Given the description of an element on the screen output the (x, y) to click on. 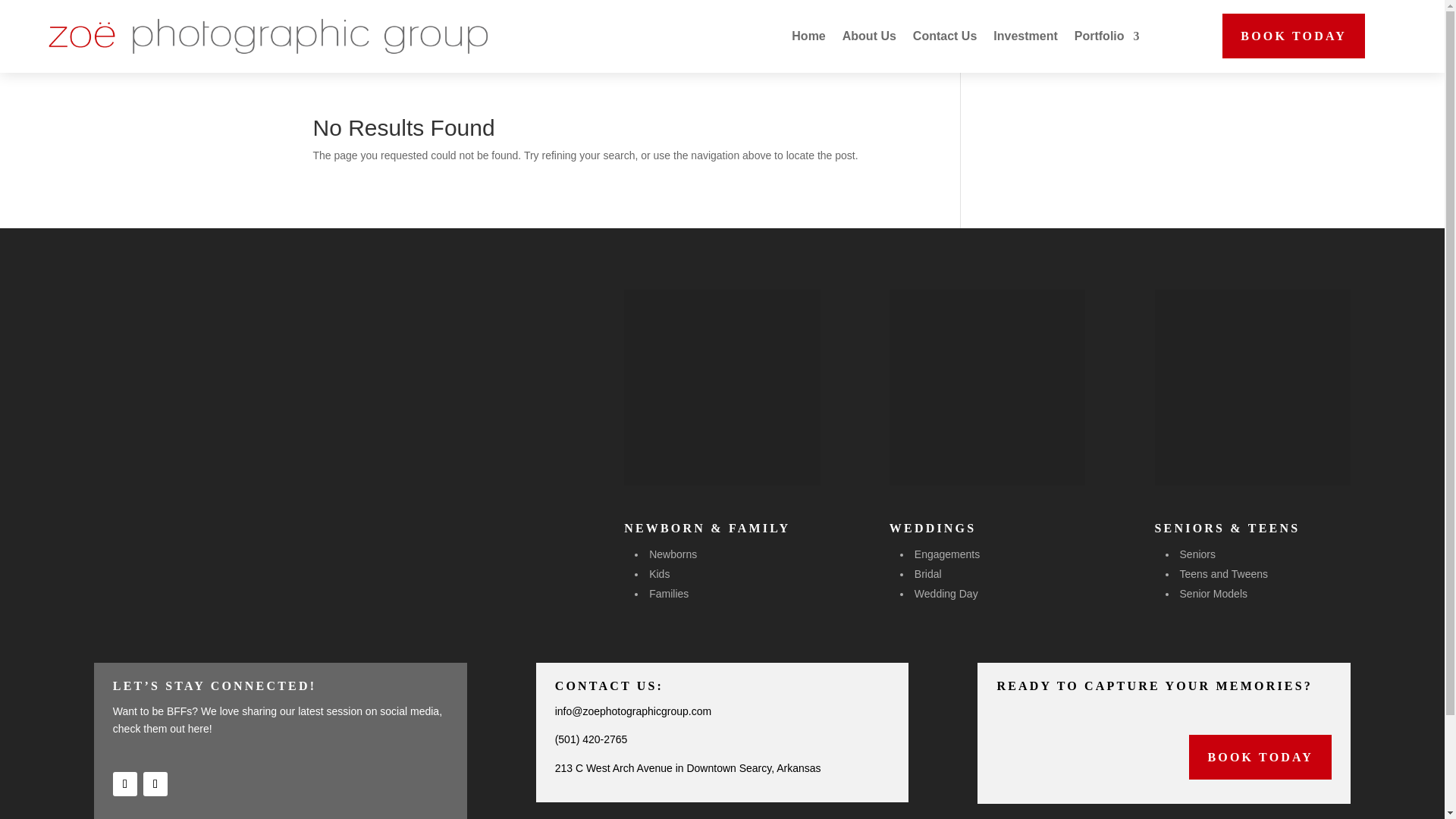
BOOK TODAY (1260, 756)
Portfolio (1107, 36)
Follow on Instagram (154, 784)
Follow on Facebook (124, 784)
Investment (1024, 36)
BOOK TODAY (1294, 35)
Contact Us (944, 36)
About Us (869, 36)
